Given the description of an element on the screen output the (x, y) to click on. 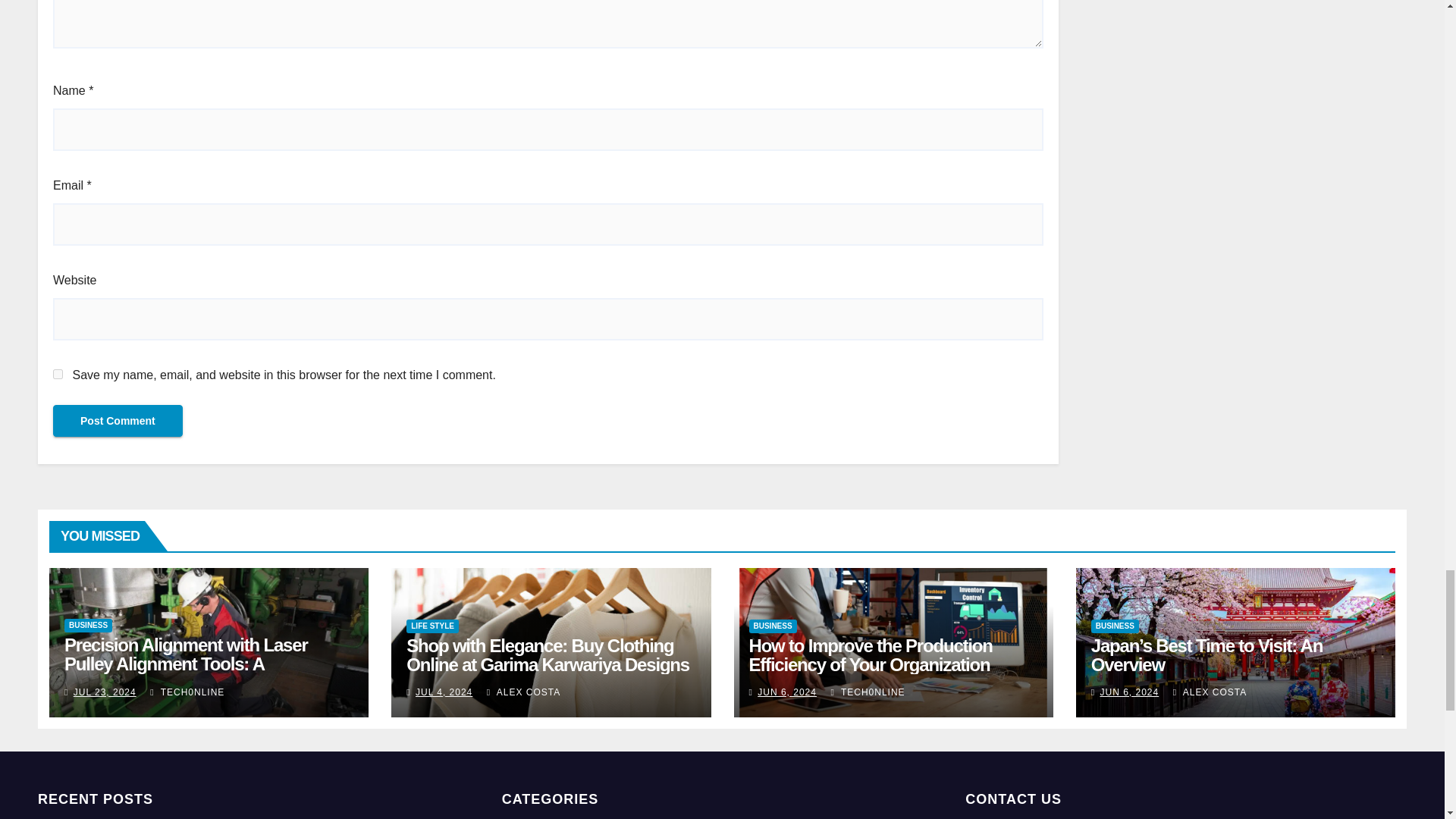
Post Comment (117, 420)
yes (57, 374)
